Given the description of an element on the screen output the (x, y) to click on. 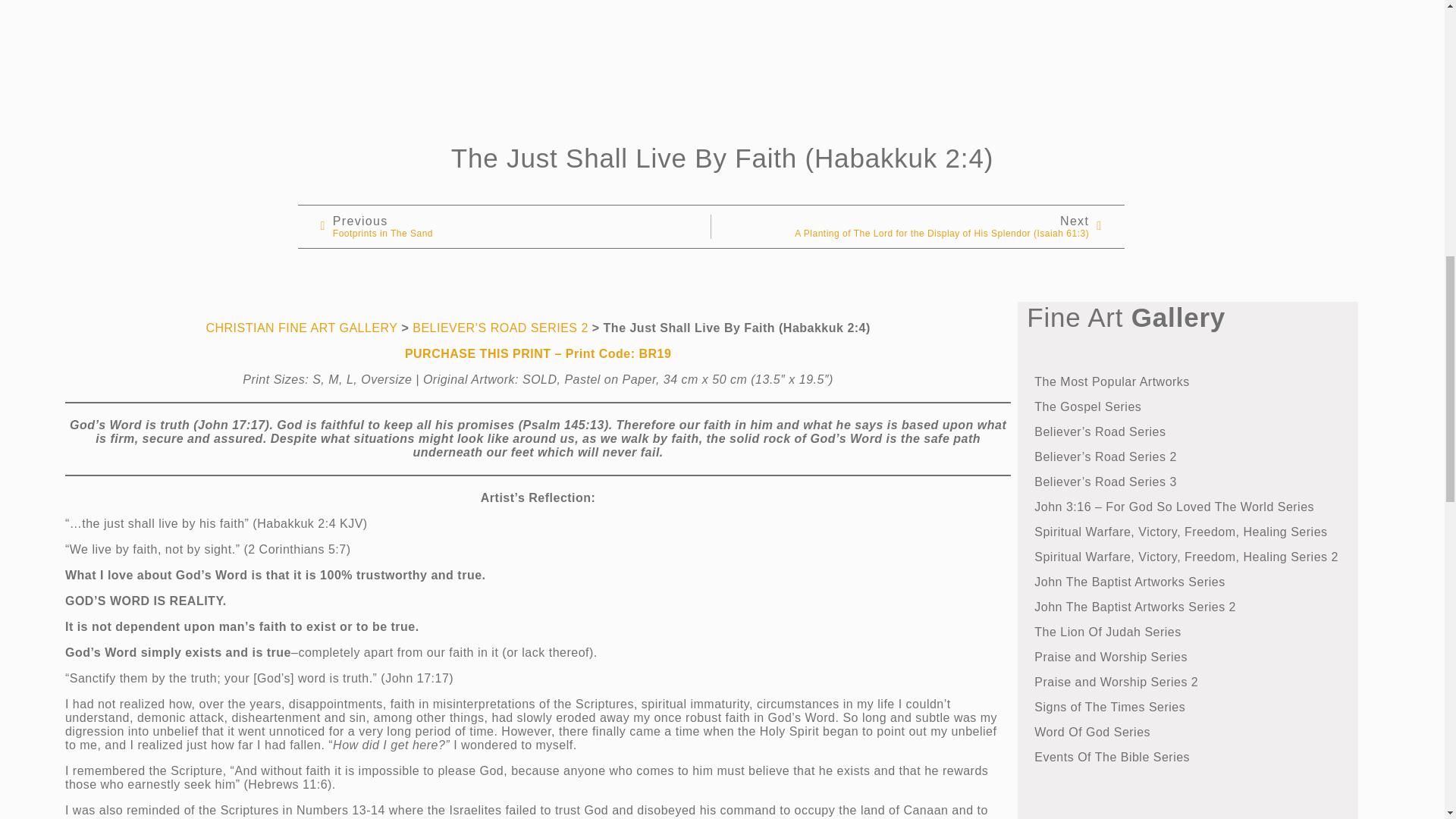
CHRISTIAN FINE ART GALLERY (515, 226)
